Given the description of an element on the screen output the (x, y) to click on. 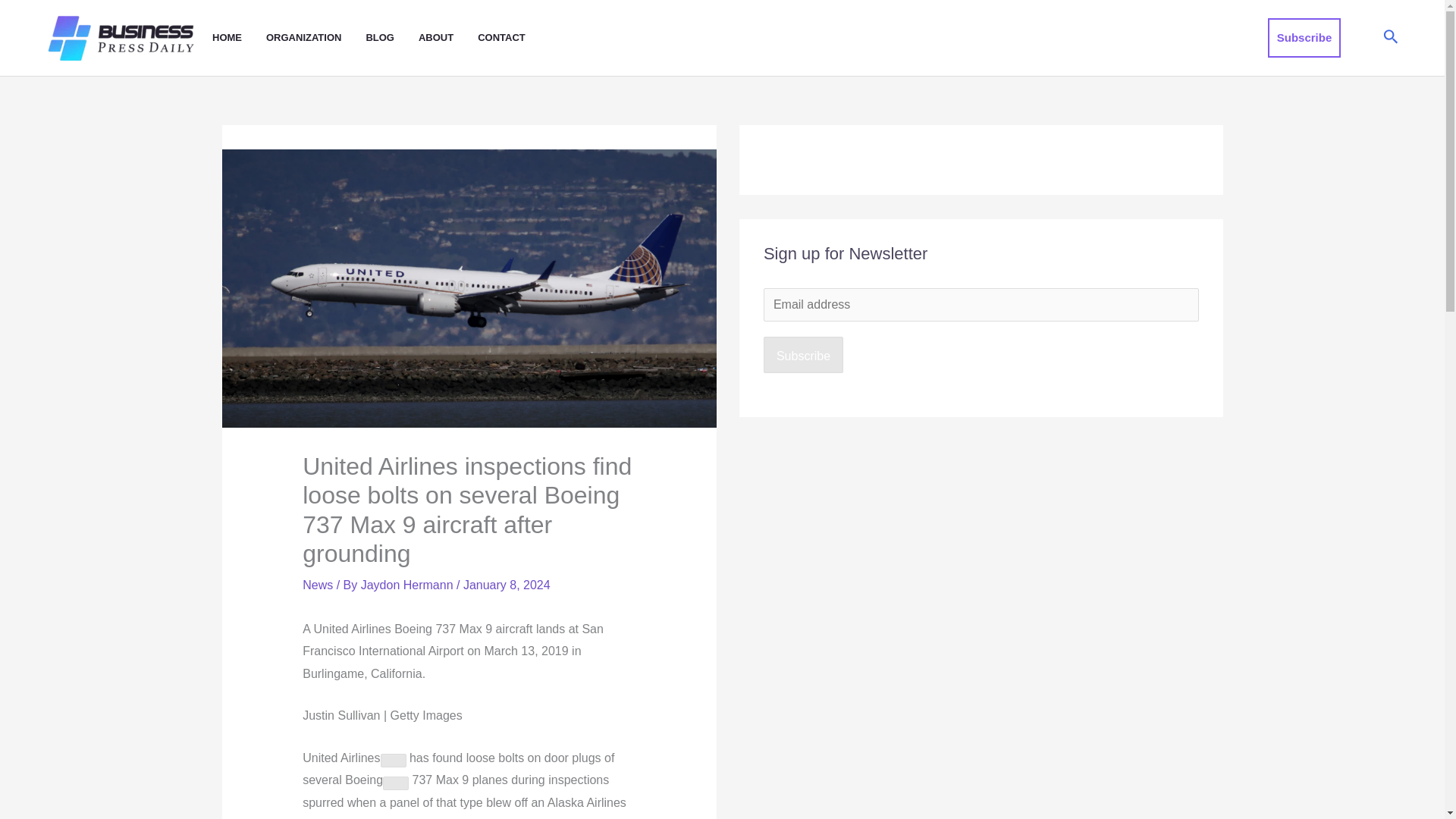
ORGANIZATION (315, 38)
Subscribe (802, 354)
Jaydon Hermann (409, 584)
View all posts by Jaydon Hermann (409, 584)
News (317, 584)
Subscribe (1304, 37)
CONTACT (513, 38)
